Given the description of an element on the screen output the (x, y) to click on. 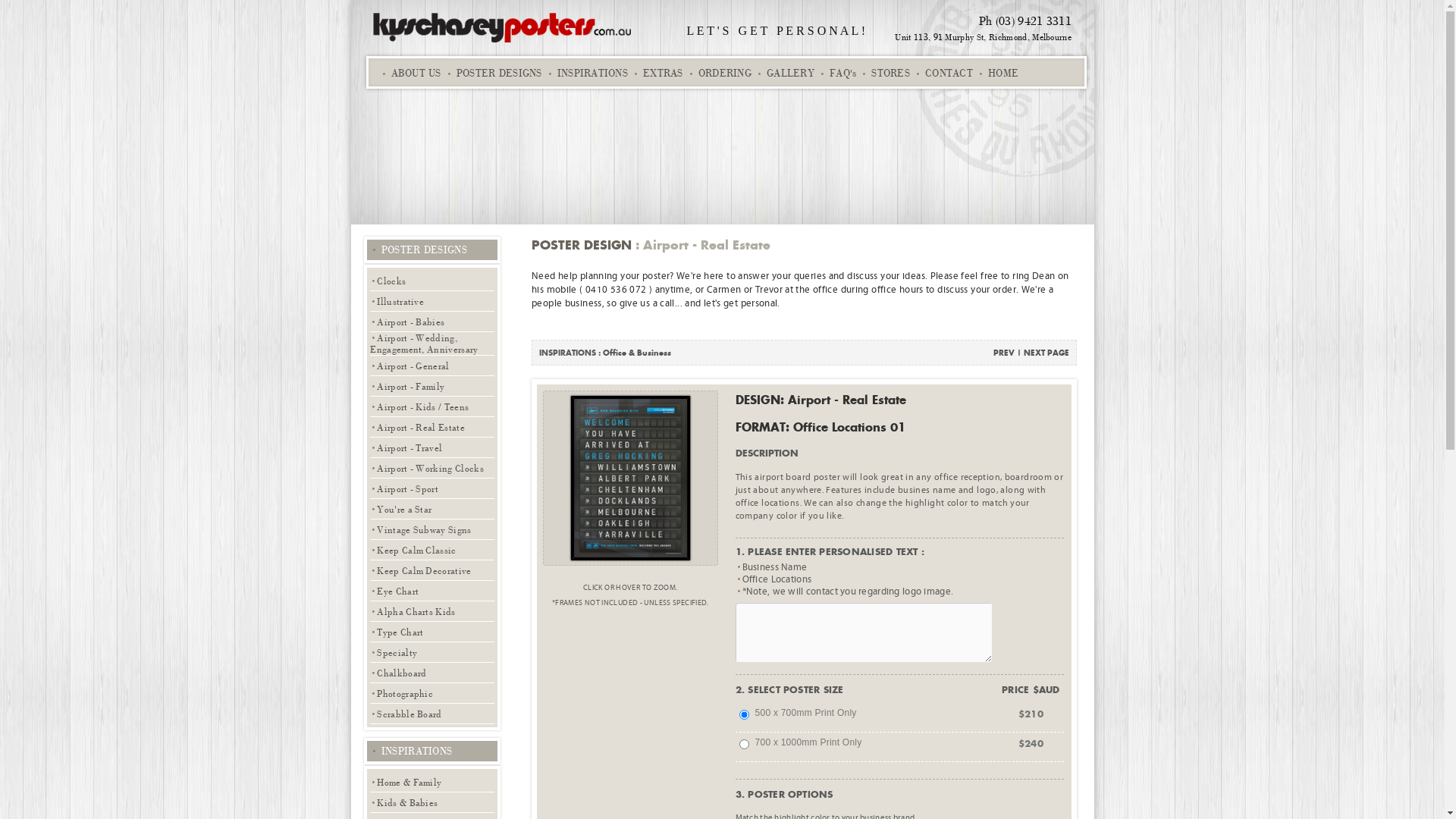
ABOUT US Element type: text (408, 72)
Keep Calm Decorative Element type: text (432, 570)
Office & Business Element type: text (636, 352)
Airport - Travel Element type: text (432, 447)
INSPIRATIONS Element type: text (584, 72)
Keep Calm Classic Element type: text (432, 549)
ORDERING Element type: text (717, 72)
Airport - General Element type: text (432, 365)
Airport - Wedding, Engagement, Anniversary Element type: text (432, 343)
Alpha Charts Kids Element type: text (432, 611)
Vintage Subway Signs Element type: text (432, 529)
Eye Chart Element type: text (432, 590)
GALLERY Element type: text (782, 72)
Type Chart Element type: text (432, 631)
Airport - Real Estate Element type: text (432, 427)
FAQ's Element type: text (835, 72)
Clocks Element type: text (432, 280)
HOME Element type: text (995, 72)
Airport - Babies Element type: text (432, 321)
CONTACT Element type: text (941, 72)
POSTER DESIGNS Element type: text (491, 72)
Kids & Babies Element type: text (432, 802)
Airport - Working Clocks Element type: text (432, 468)
Scrabble Board Element type: text (432, 713)
Airport - Kids / Teens Element type: text (432, 406)
Photographic Element type: text (432, 693)
Home & Family Element type: text (432, 781)
Airport - Family Element type: text (432, 386)
Specialty Element type: text (432, 652)
Illustrative Element type: text (432, 301)
EXTRAS Element type: text (655, 72)
Chalkboard Element type: text (432, 672)
NEXT PAGE Element type: text (1046, 352)
Airport - Sport Element type: text (432, 488)
STORES Element type: text (883, 72)
You're a Star Element type: text (432, 508)
PREV Element type: text (1003, 352)
